Given the description of an element on the screen output the (x, y) to click on. 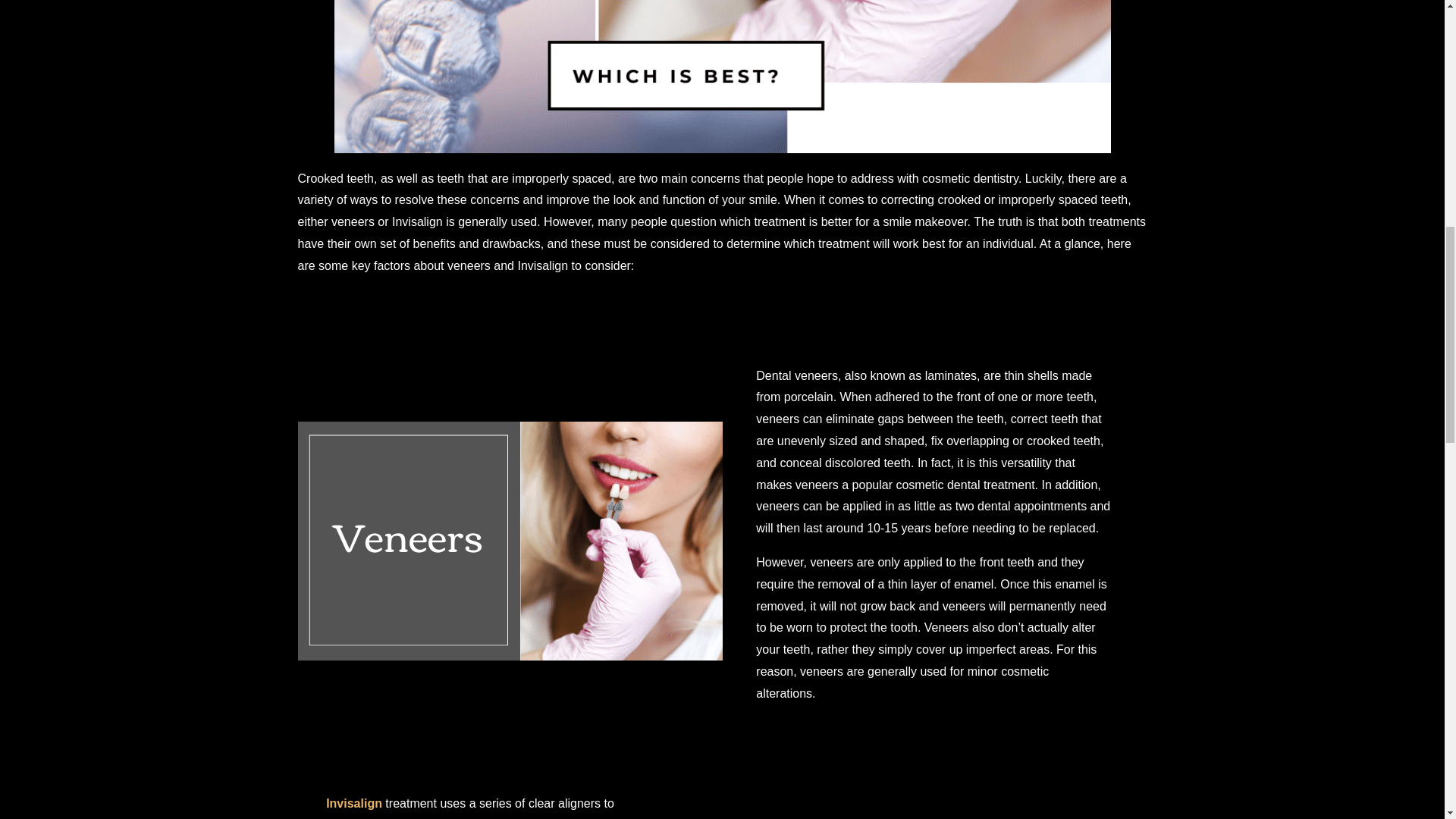
Invisalign (353, 802)
